Given the description of an element on the screen output the (x, y) to click on. 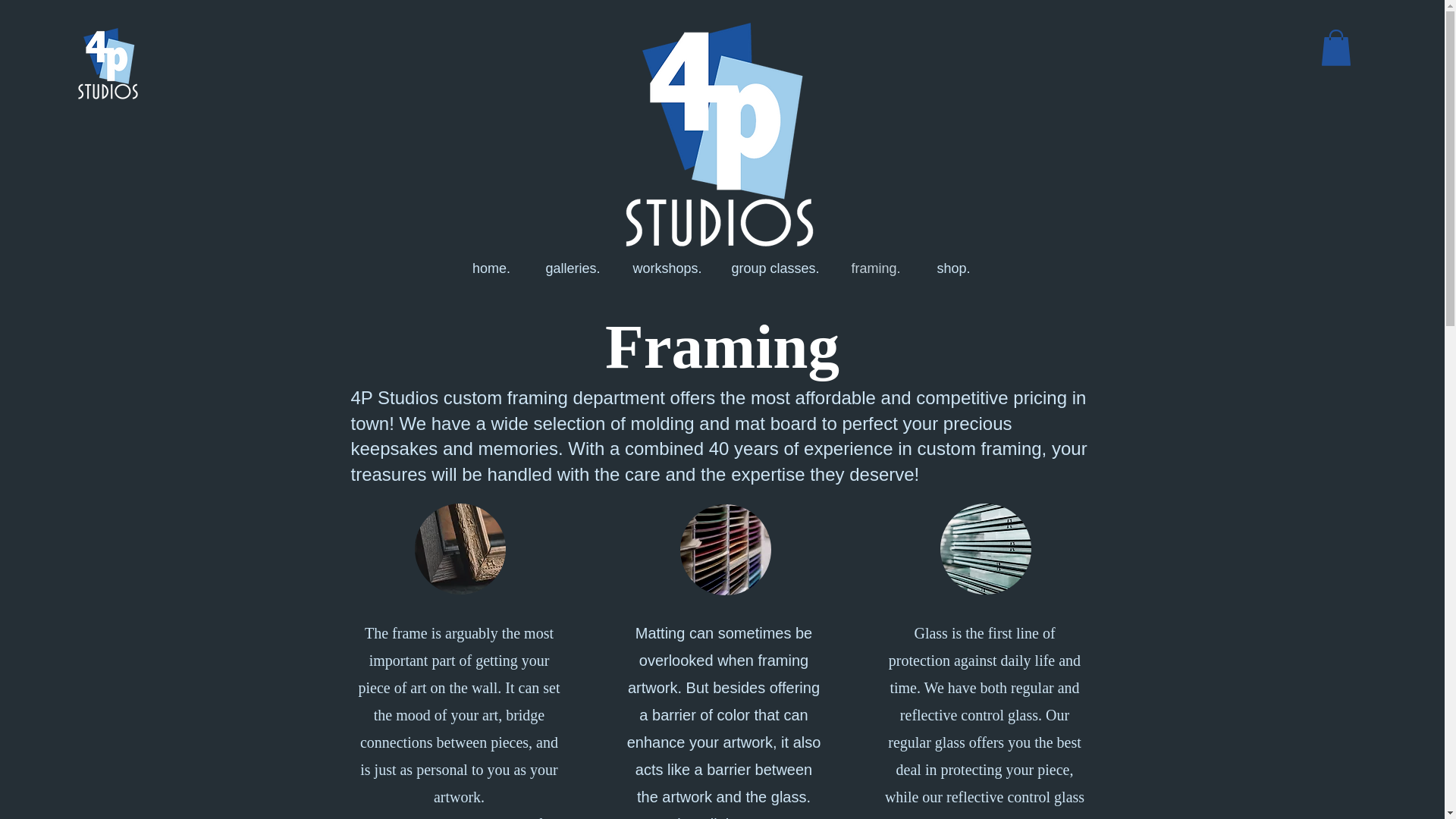
group classes. (774, 268)
home. (490, 268)
framing. (875, 268)
galleries. (573, 268)
shop. (953, 268)
workshops. (667, 268)
